Given the description of an element on the screen output the (x, y) to click on. 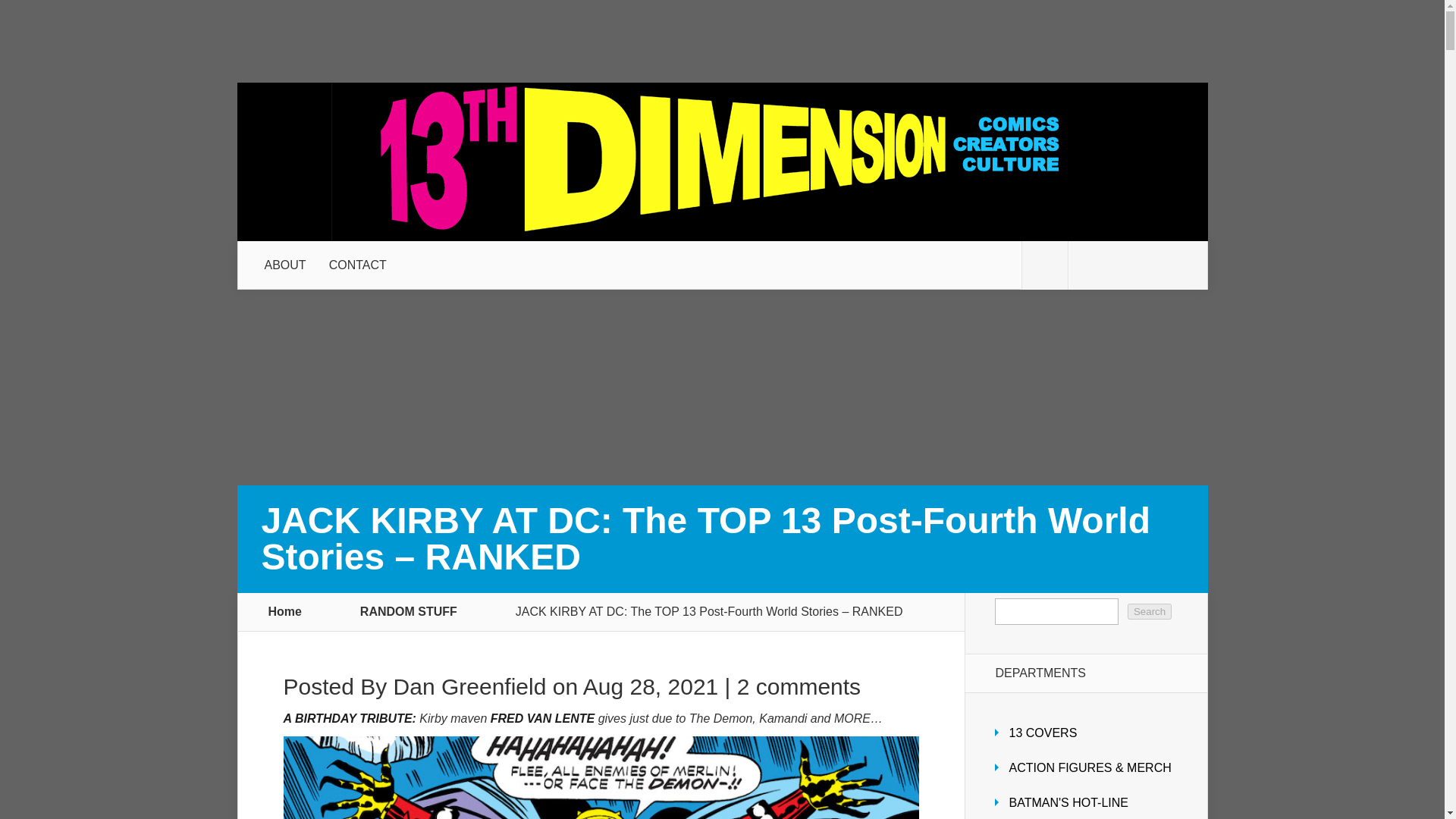
2 comments (798, 686)
Search (1149, 611)
Follow us on Twitter (1044, 264)
CONTACT (357, 264)
Dan Greenfield (470, 686)
Posts by Dan Greenfield (470, 686)
ABOUT (285, 264)
Follow us on Facebook (1090, 264)
RANDOM STUFF (417, 611)
Home (285, 611)
